Given the description of an element on the screen output the (x, y) to click on. 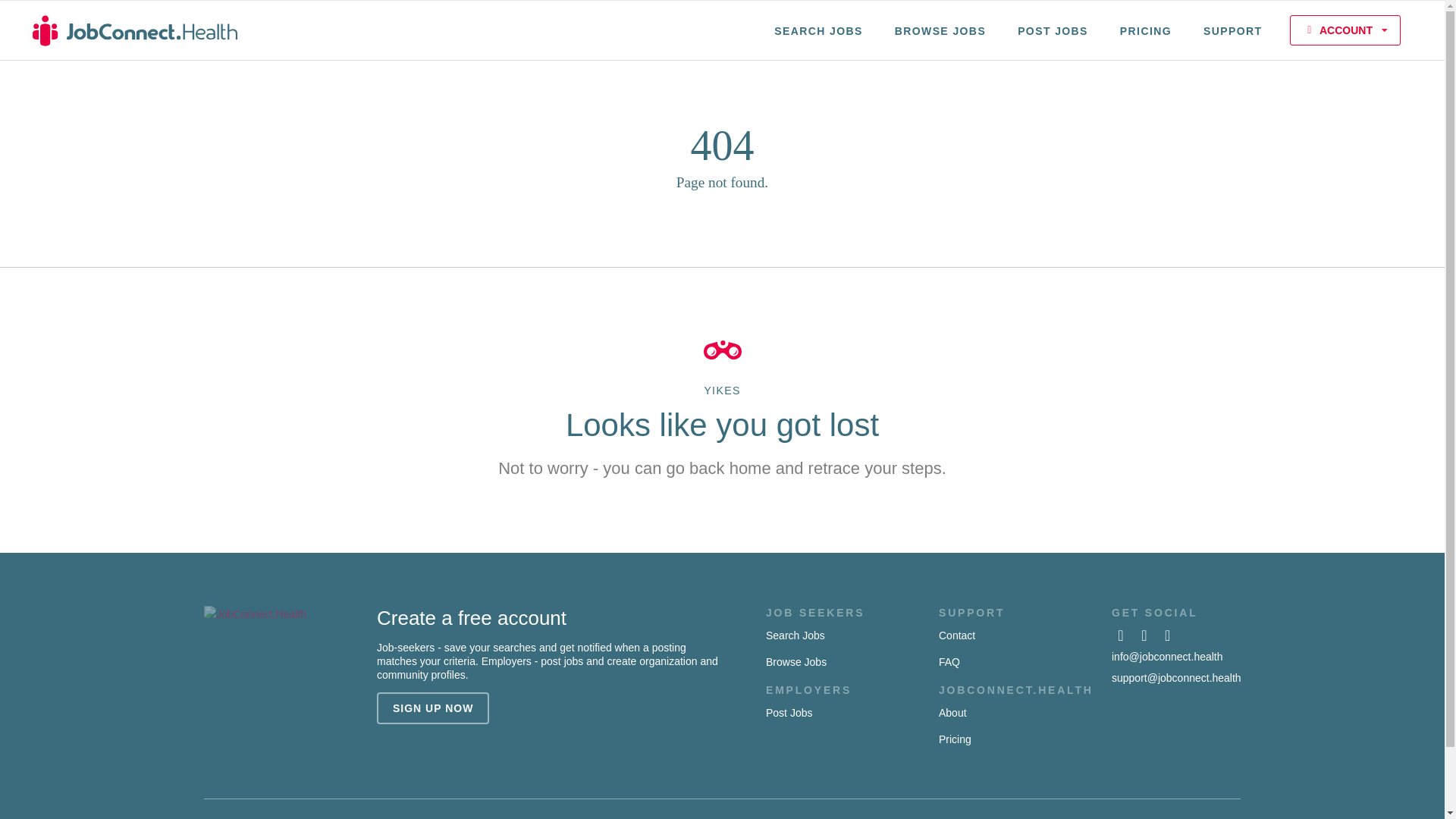
Pricing (955, 739)
Contact (957, 635)
Search Jobs (795, 635)
Browse Jobs (796, 662)
POST JOBS (1052, 29)
BROWSE JOBS (940, 29)
SUPPORT (1233, 29)
Post Jobs (788, 712)
About (952, 712)
FAQ (949, 662)
